Given the description of an element on the screen output the (x, y) to click on. 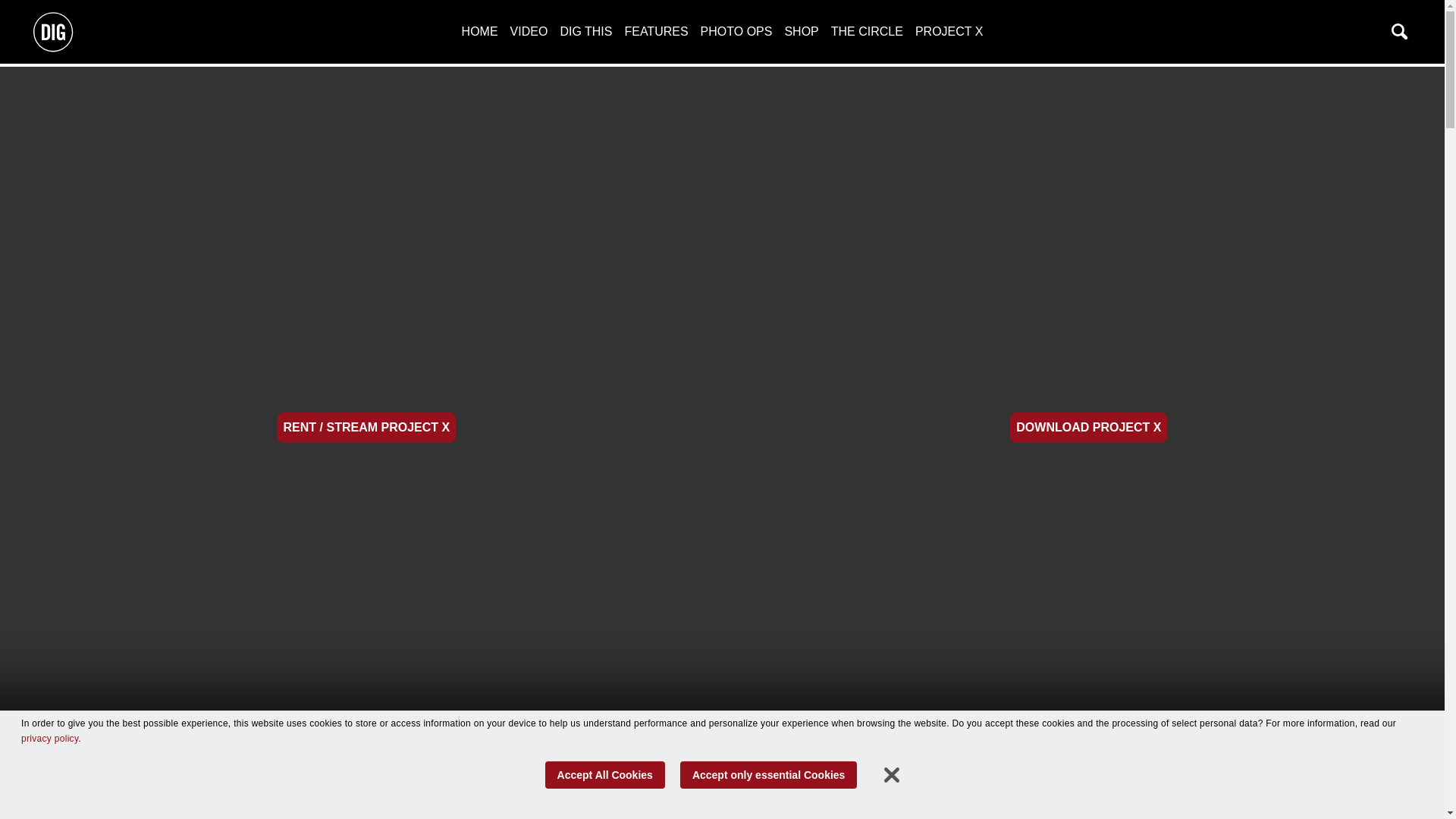
PHOTO OPS (736, 31)
VIDEO (528, 31)
HOME (479, 31)
DIG THIS (585, 31)
THE CIRCLE (866, 31)
PROJECT X (949, 31)
DOWNLOAD PROJECT X (1088, 427)
FEATURES (655, 31)
SHOP (800, 31)
